Given the description of an element on the screen output the (x, y) to click on. 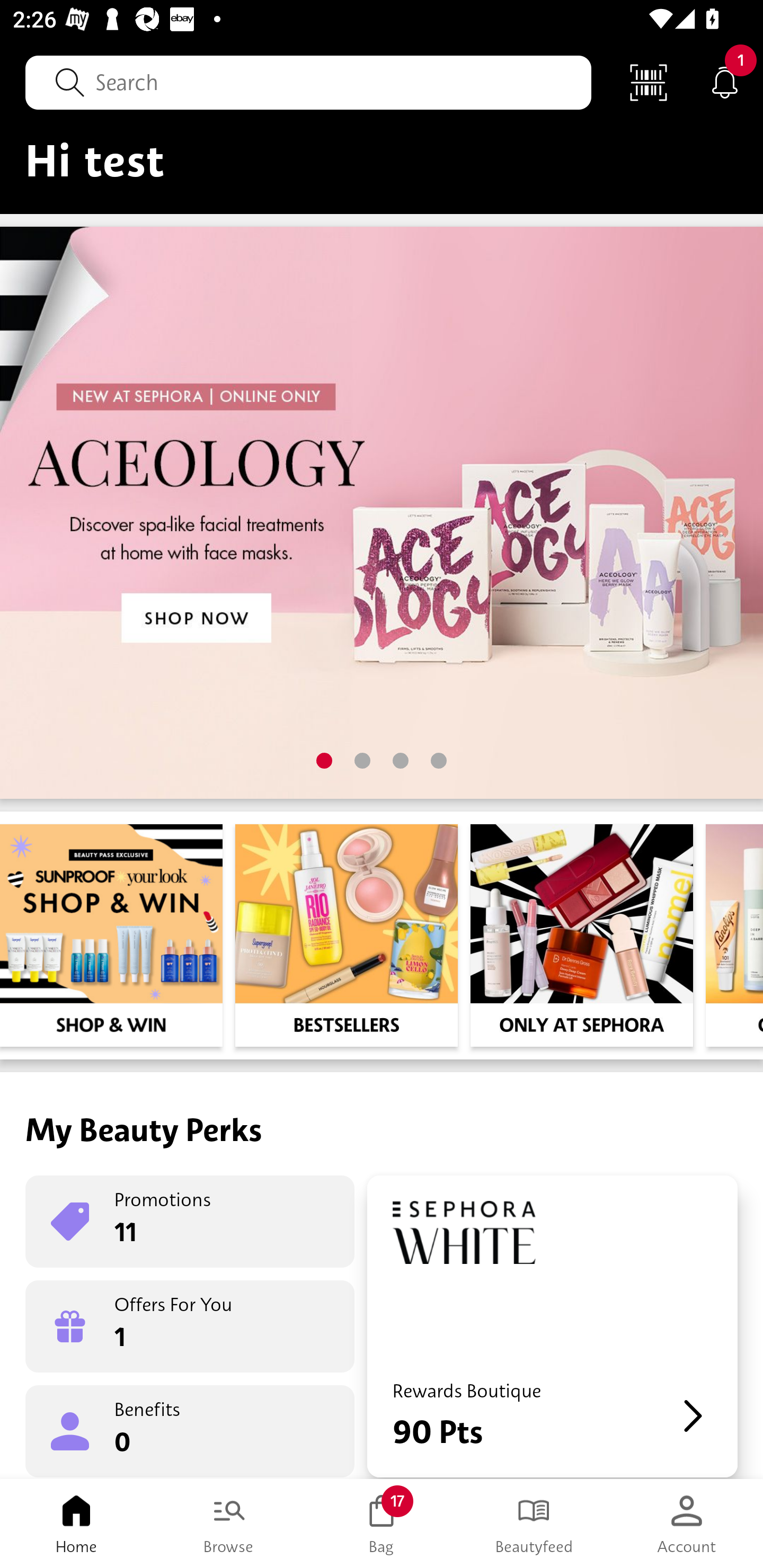
Scan Code (648, 81)
Notifications (724, 81)
Search (308, 81)
Promotions 11 (189, 1221)
Rewards Boutique 90 Pts (552, 1326)
Offers For You 1 (189, 1326)
Benefits 0 (189, 1430)
Browse (228, 1523)
Bag 17 Bag (381, 1523)
Beautyfeed (533, 1523)
Account (686, 1523)
